Given the description of an element on the screen output the (x, y) to click on. 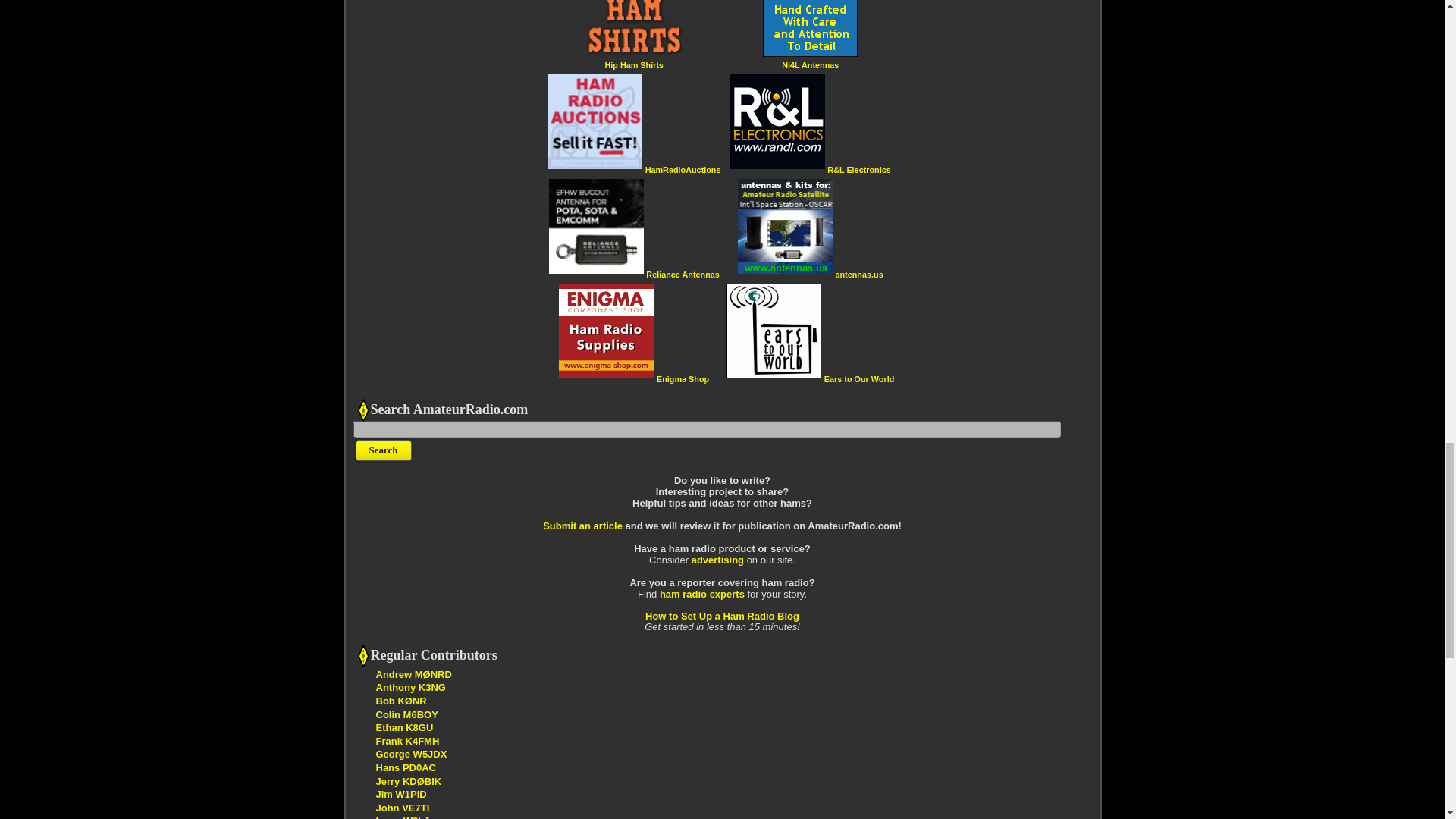
Thoughts of a Dutch radio amateur (405, 767)
Anthony K3NG (410, 686)
Submit an article (583, 525)
HamRadioAuctions (682, 169)
advertising (717, 559)
Entertain, Encourage, Educate and Inspire (408, 781)
Ears to Our World (858, 378)
ham radio experts (701, 593)
Search (383, 450)
Search (383, 450)
antennas.us (858, 274)
Colin M6BOY (406, 714)
Ni4L Antennas (809, 64)
Reliance Antennas (682, 274)
Enigma Shop (682, 378)
